Given the description of an element on the screen output the (x, y) to click on. 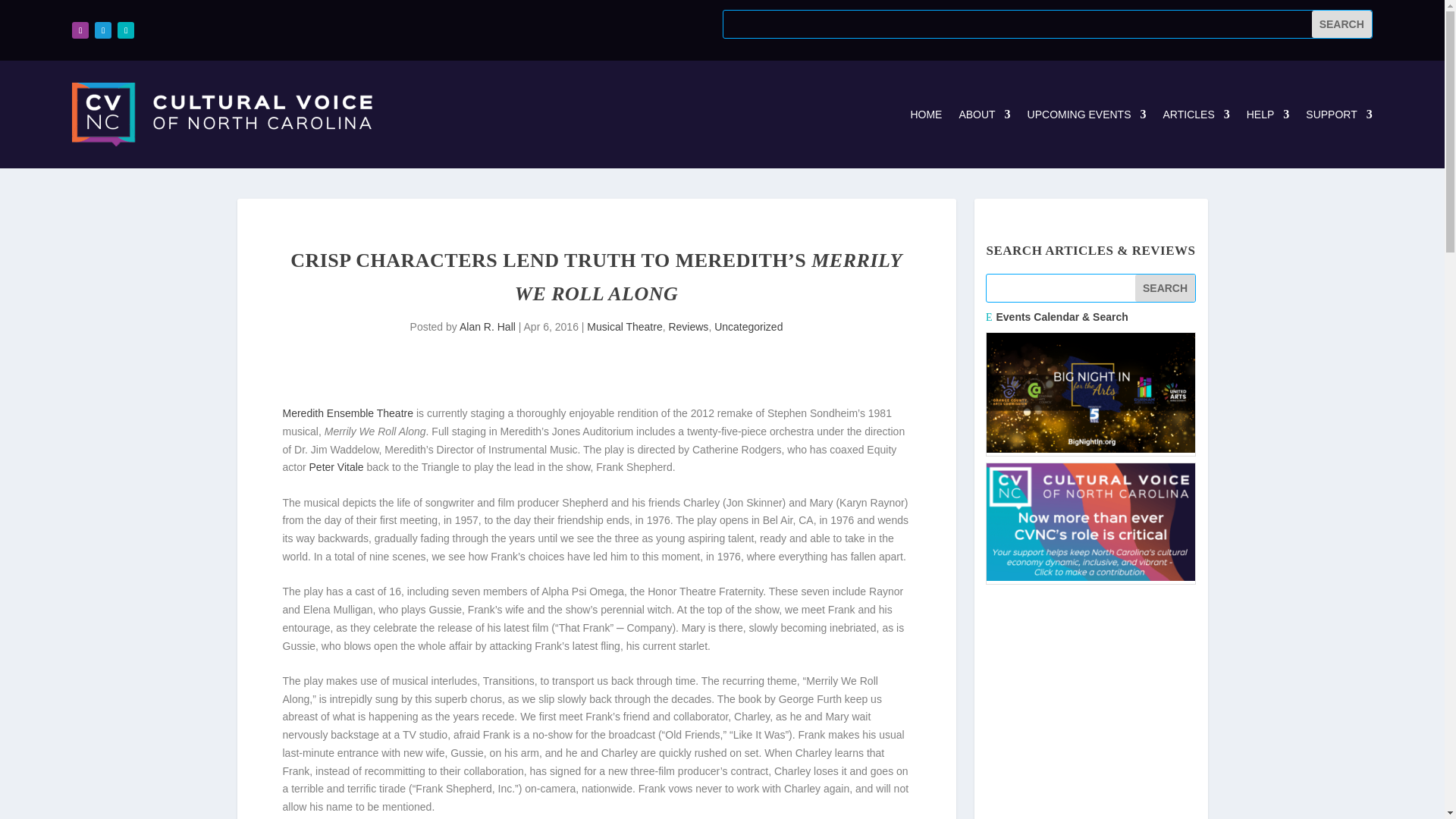
Search (1165, 288)
ARTICLES (1196, 114)
UPCOMING EVENTS (1087, 114)
Search (1165, 288)
Posts by Alan R. Hall (487, 326)
SUPPORT (1338, 114)
Search (1341, 23)
Follow on X (103, 30)
Search (1341, 23)
Follow on LinkedIn (125, 30)
